Given the description of an element on the screen output the (x, y) to click on. 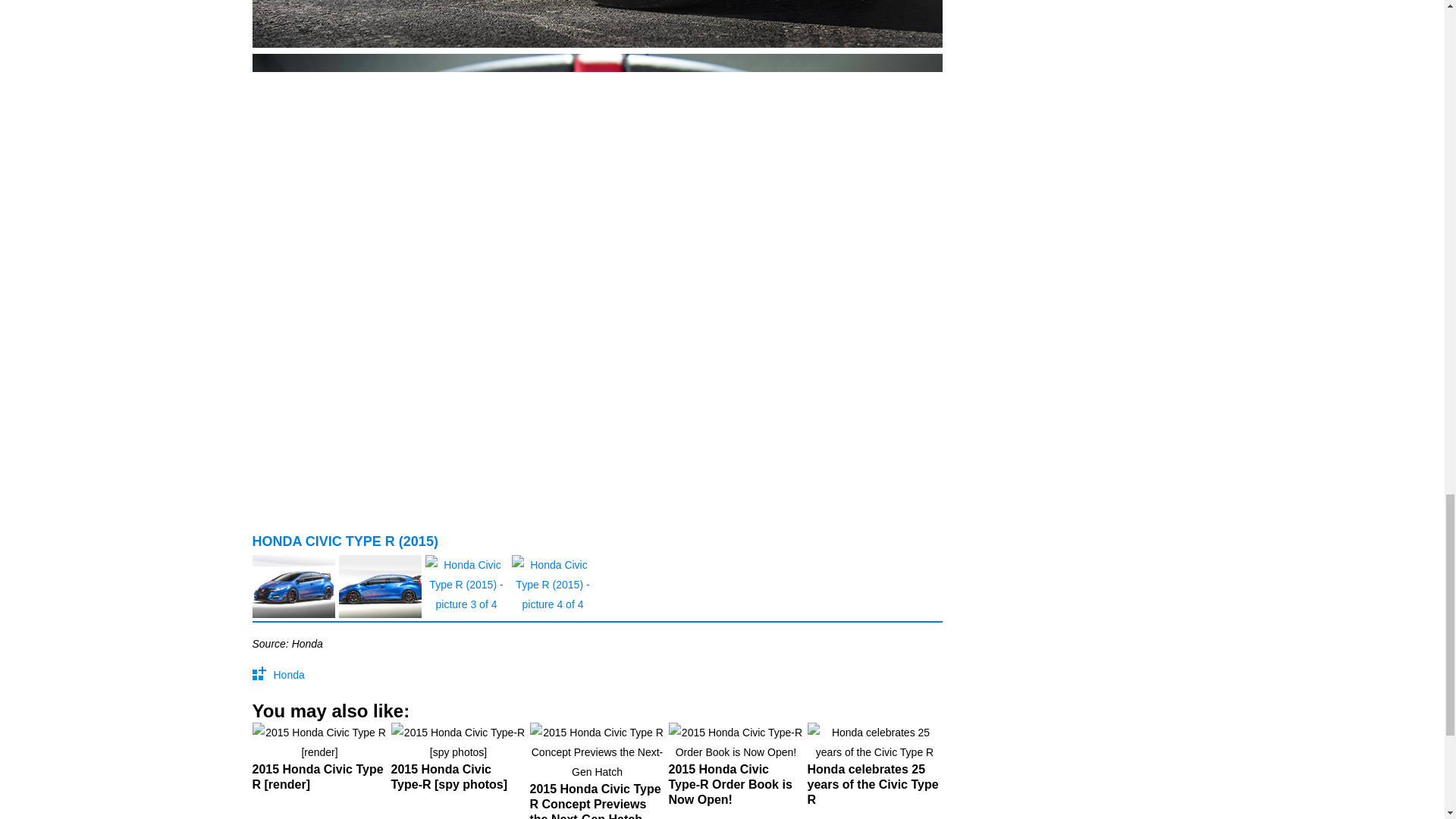
2015 Honda Civic Type-R Order Book is Now Open! (735, 770)
Honda celebrates 25 years of the Civic Type R (874, 770)
2015 Honda Civic Type R Concept Previews the Next-Gen Hatch (596, 770)
Honda (288, 674)
